Given the description of an element on the screen output the (x, y) to click on. 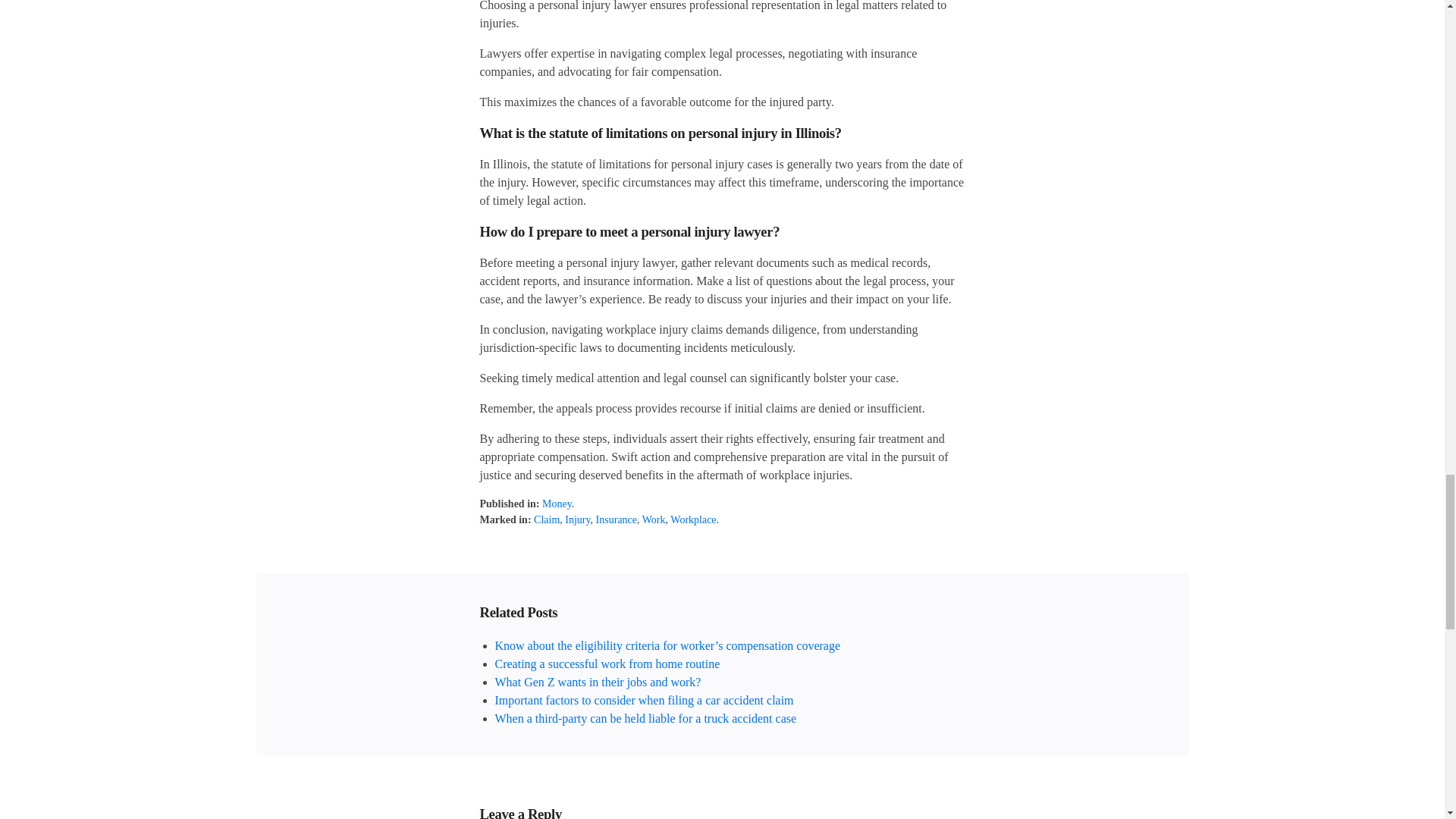
Creating a successful work from home routine (607, 663)
Insurance (616, 519)
Injury (576, 519)
Workplace (692, 519)
What Gen Z wants in their jobs and work? (597, 681)
Claim (546, 519)
Money (556, 503)
Work (653, 519)
